Given the description of an element on the screen output the (x, y) to click on. 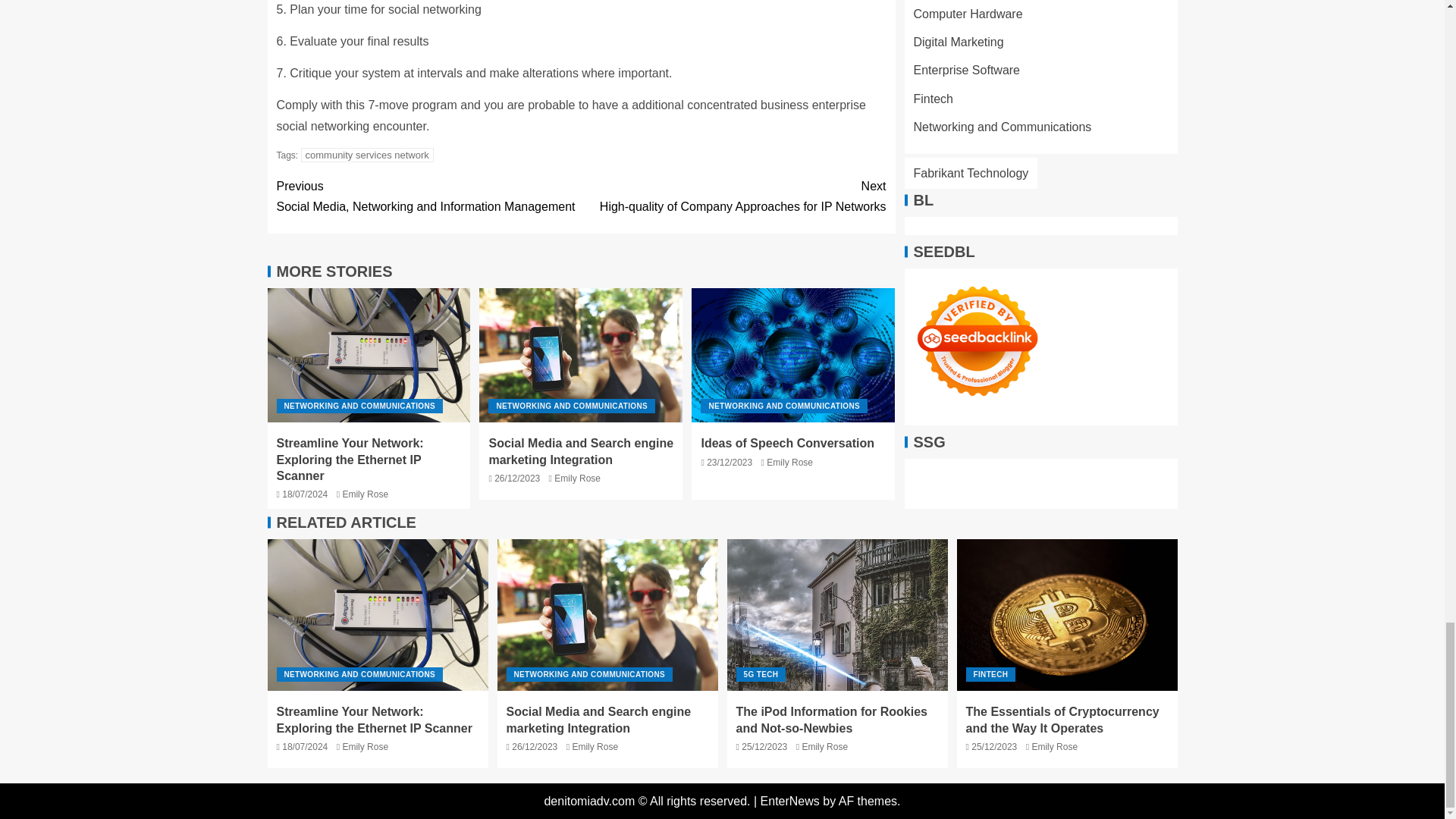
NETWORKING AND COMMUNICATIONS (783, 405)
Streamline Your Network: Exploring the Ethernet IP Scanner (732, 196)
Ideas of Speech Conversation (349, 459)
NETWORKING AND COMMUNICATIONS (793, 355)
Streamline Your Network: Exploring the Ethernet IP Scanner (571, 405)
Streamline Your Network: Exploring the Ethernet IP Scanner (368, 355)
Emily Rose (376, 614)
The iPod Information for Rookies and Not-so-Newbies (365, 493)
Social Media and Search engine marketing Integration (836, 614)
community services network (428, 196)
NETWORKING AND COMMUNICATIONS (607, 614)
Ideas of Speech Conversation (367, 155)
Social Media and Search engine marketing Integration (359, 405)
